Given the description of an element on the screen output the (x, y) to click on. 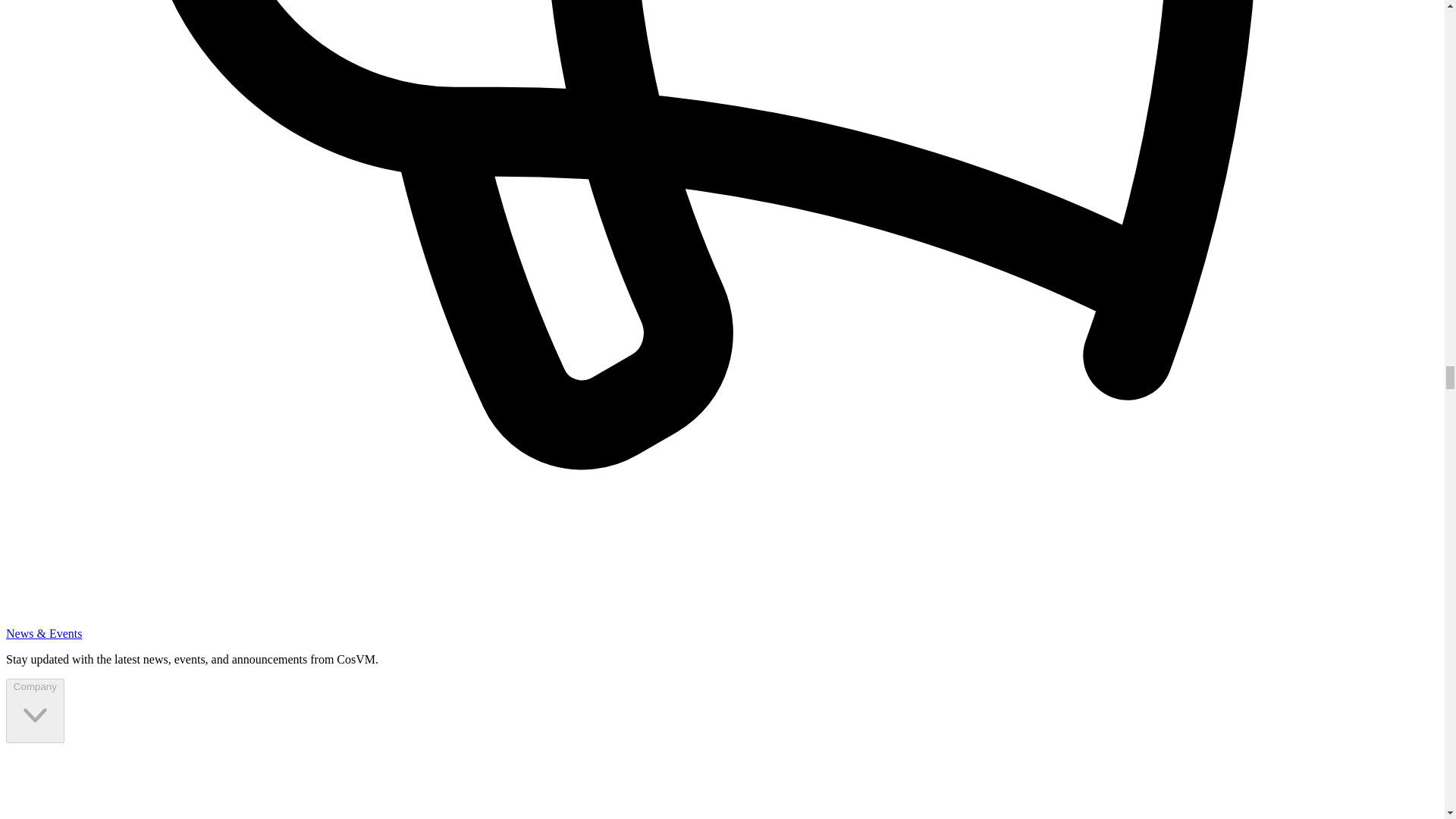
Company (34, 710)
